Given the description of an element on the screen output the (x, y) to click on. 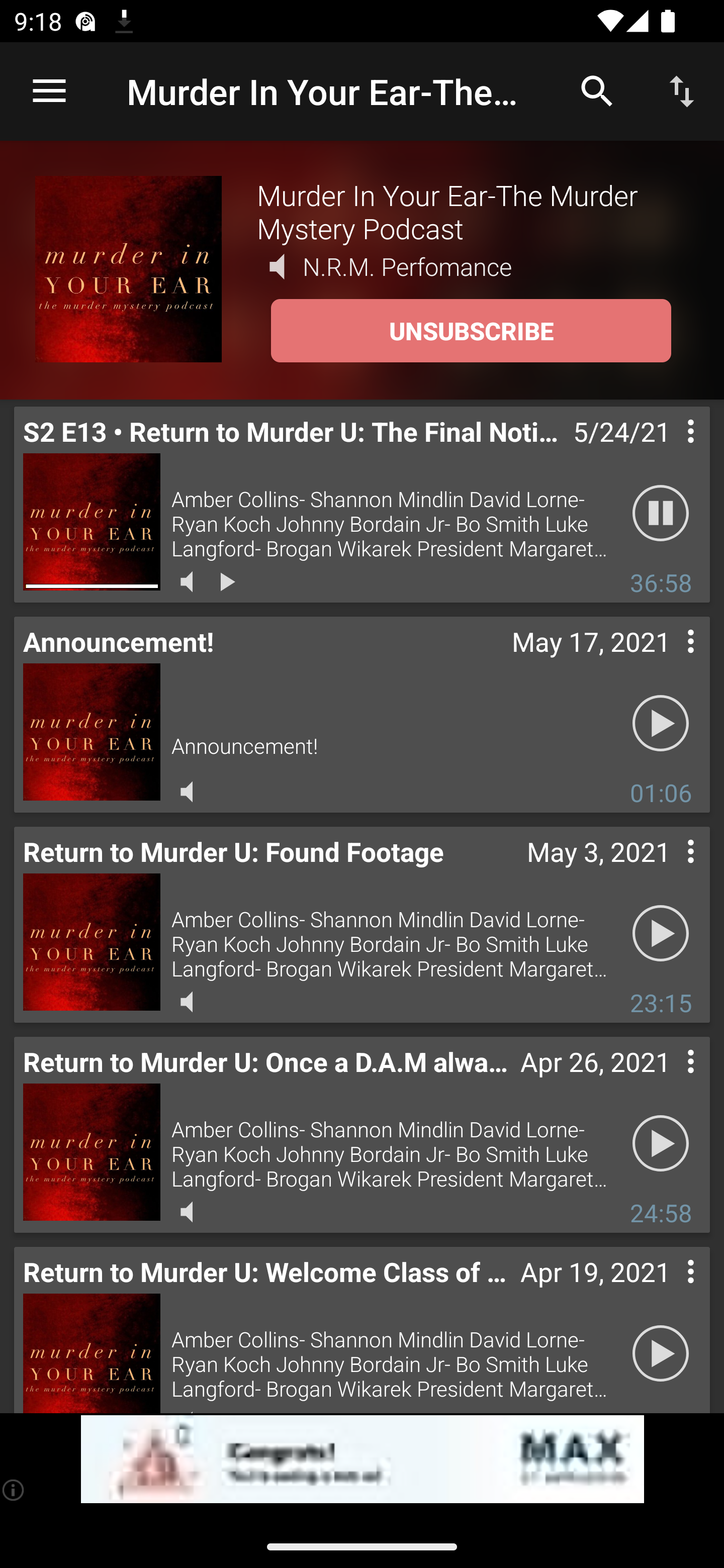
Open navigation sidebar (49, 91)
Search (597, 90)
Sort (681, 90)
UNSUBSCRIBE (470, 330)
Contextual menu (668, 451)
Pause (660, 513)
Contextual menu (668, 661)
Play (660, 723)
Contextual menu (668, 870)
Play (660, 933)
Contextual menu (668, 1080)
Play (660, 1143)
Contextual menu (668, 1290)
Play (660, 1353)
app-monetization (362, 1459)
(i) (14, 1489)
